Given the description of an element on the screen output the (x, y) to click on. 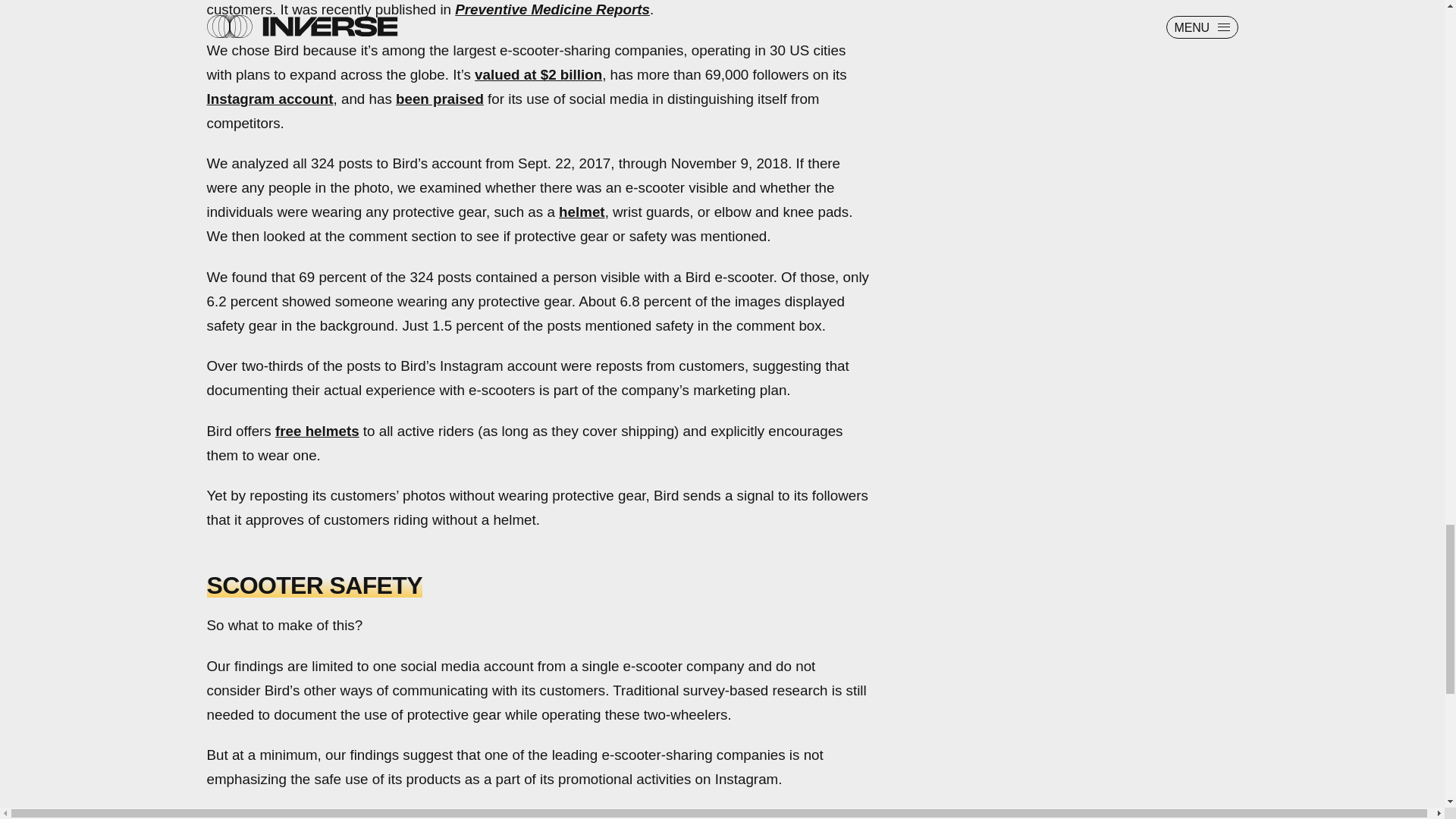
Instagram account (269, 98)
Preventive Medicine Reports (551, 9)
free helmets (317, 430)
California law (568, 815)
helmet (582, 211)
been praised (439, 98)
